Given the description of an element on the screen output the (x, y) to click on. 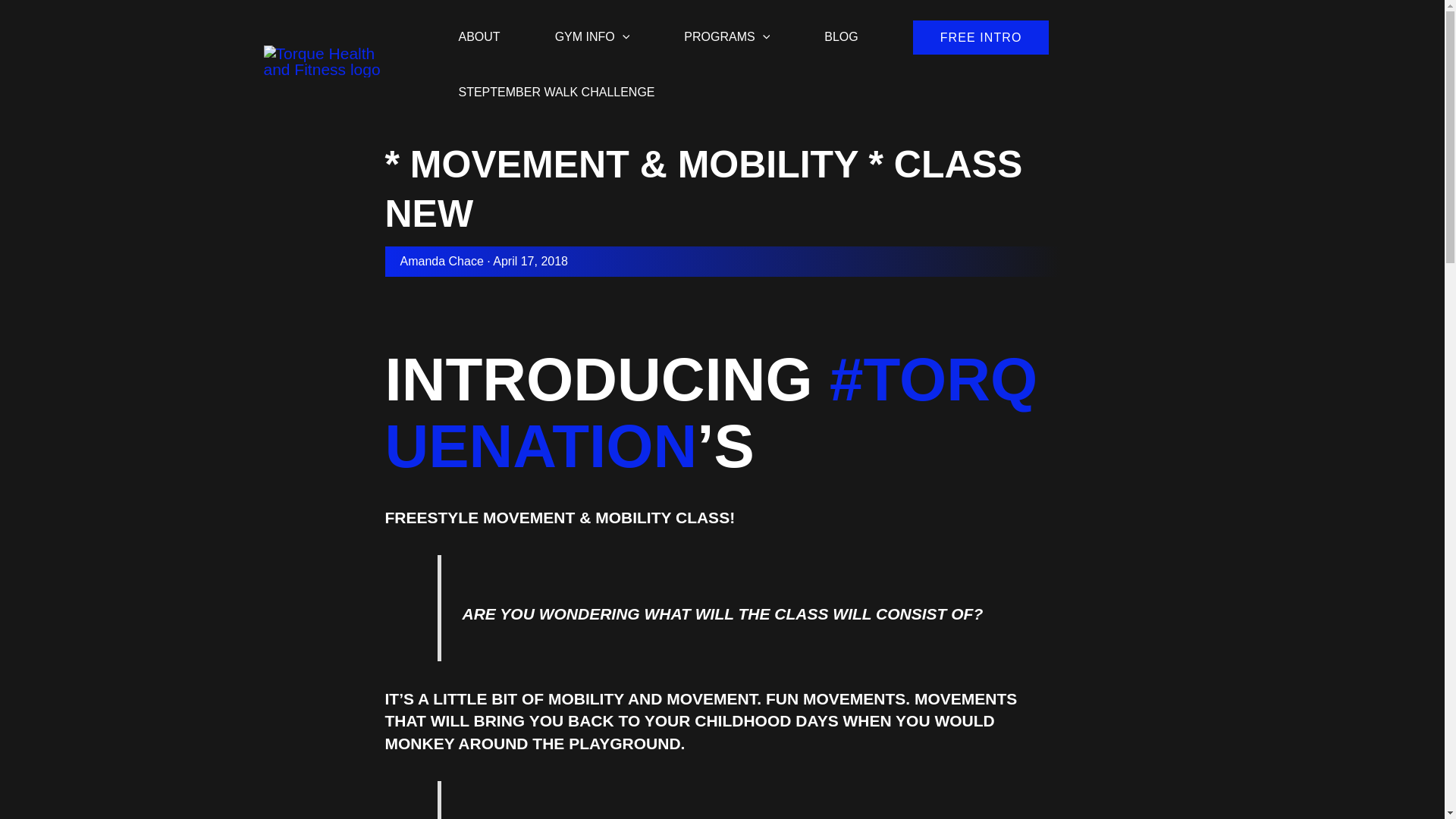
PROGRAMS (726, 27)
FREE INTRO (980, 37)
BLOG (840, 27)
GYM INFO (592, 27)
STEPTEMBER WALK CHALLENGE (555, 82)
ABOUT (478, 27)
